Given the description of an element on the screen output the (x, y) to click on. 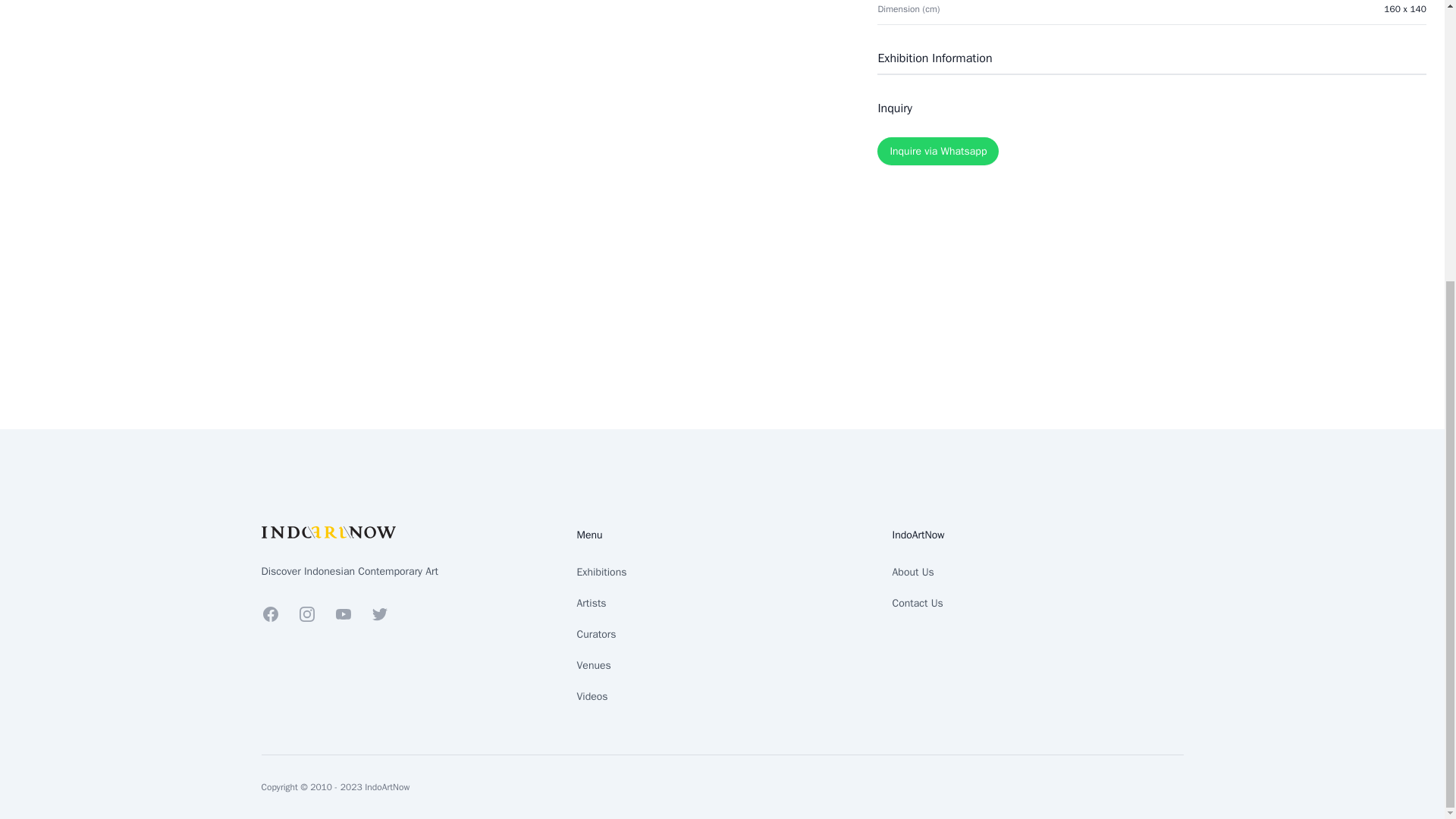
Artists (590, 603)
Youtube (342, 614)
Inquire via Whatsapp (937, 151)
Videos (591, 696)
About Us (912, 571)
Twitter (378, 614)
Contact Us (916, 603)
Venues (593, 665)
Curators (595, 634)
Exhibitions (601, 571)
